Given the description of an element on the screen output the (x, y) to click on. 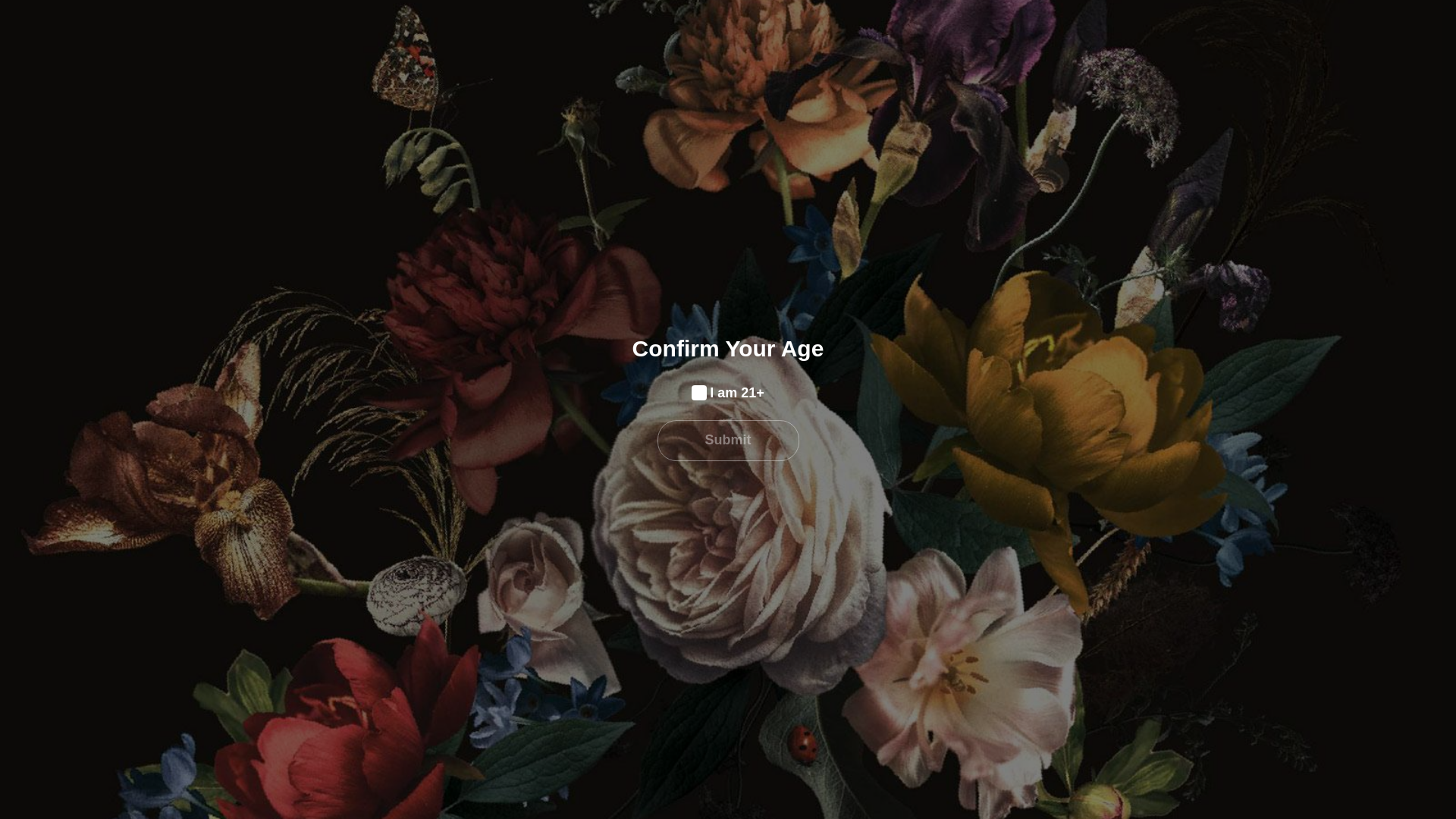
2024-03-30 (387, 470)
Facebook (1110, 67)
Click to view a Google Map (444, 672)
Instagram (1133, 67)
SHOP (729, 68)
EVENTS (972, 68)
VISIT (1038, 68)
MORE INFO (627, 11)
BLOG (788, 68)
Syndicate Event (370, 527)
Cellador-Ales-Los-Angeles-new (382, 68)
MY ACCOUNT (1113, 11)
MEMBERSHIP (876, 68)
CONTACT (1046, 11)
ABOUT (527, 68)
